Given the description of an element on the screen output the (x, y) to click on. 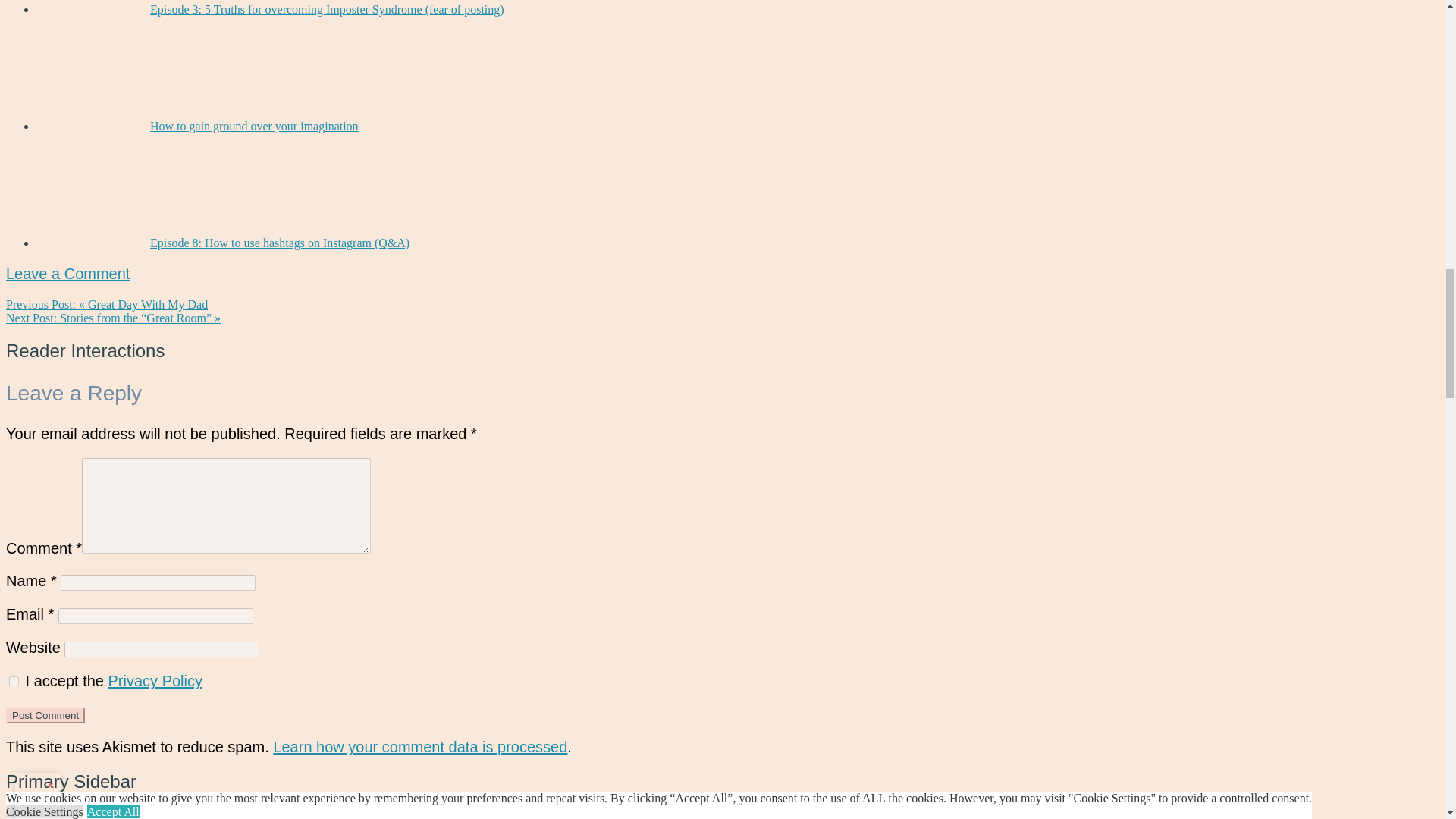
How to gain ground over your imagination (253, 125)
Post Comment (44, 715)
Post Comment (44, 715)
Learn how your comment data is processed (420, 746)
1 (13, 681)
Leave a Comment (67, 273)
Privacy Policy (154, 680)
